Given the description of an element on the screen output the (x, y) to click on. 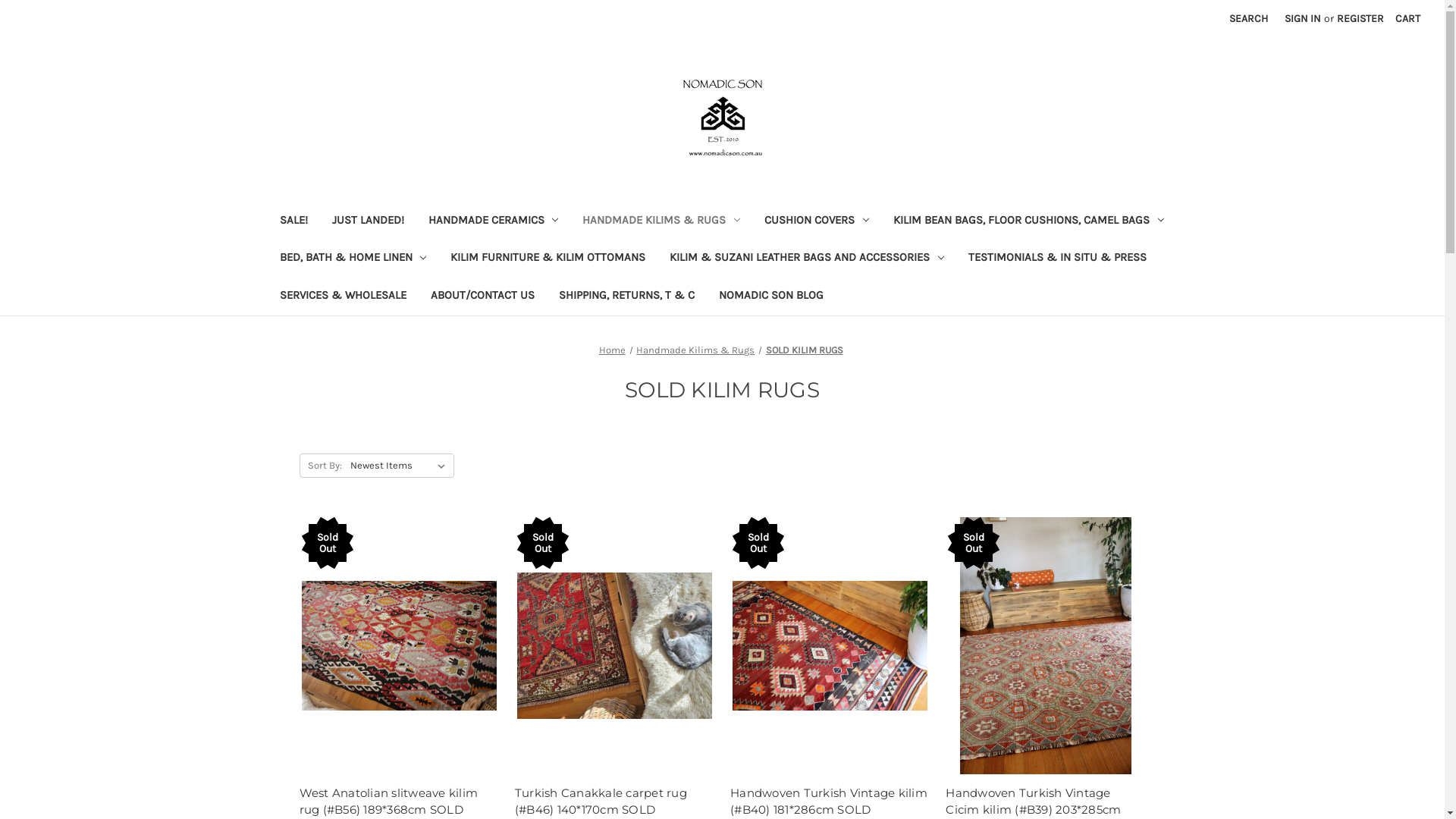
SALE! Element type: text (292, 221)
SERVICES & WHOLESALE Element type: text (341, 296)
ABOUT/CONTACT US Element type: text (482, 296)
SIGN IN Element type: text (1302, 18)
Handwoven Turkish Vintage Cicim kilim (#B39) 203*285cm SOLD  Element type: hover (1044, 645)
REGISTER Element type: text (1360, 18)
JUST LANDED! Element type: text (368, 221)
Handwoven Turkish Vintage kilim (#B40) 181*286cm SOLD Element type: hover (829, 645)
KILIM BEAN BAGS, FLOOR CUSHIONS, CAMEL BAGS Element type: text (1028, 221)
SOLD KILIM RUGS Element type: text (804, 349)
SHIPPING, RETURNS, T & C Element type: text (626, 296)
CUSHION COVERS Element type: text (816, 221)
KILIM FURNITURE & KILIM OTTOMANS Element type: text (547, 258)
SEARCH Element type: text (1248, 18)
Handmade Kilims & Rugs Element type: text (695, 349)
NOMADIC SON Element type: hover (721, 117)
Turkish Canakkale carpet rug (#B46) 140*170cm SOLD Element type: hover (614, 645)
NOMADIC SON BLOG Element type: text (770, 296)
HANDMADE KILIMS & RUGS Element type: text (661, 221)
HANDMADE CERAMICS Element type: text (492, 221)
Home Element type: text (612, 349)
CART Element type: text (1407, 18)
KILIM & SUZANI LEATHER BAGS AND ACCESSORIES Element type: text (806, 258)
TESTIMONIALS & IN SITU & PRESS Element type: text (1057, 258)
BED, BATH & HOME LINEN Element type: text (352, 258)
